Given the description of an element on the screen output the (x, y) to click on. 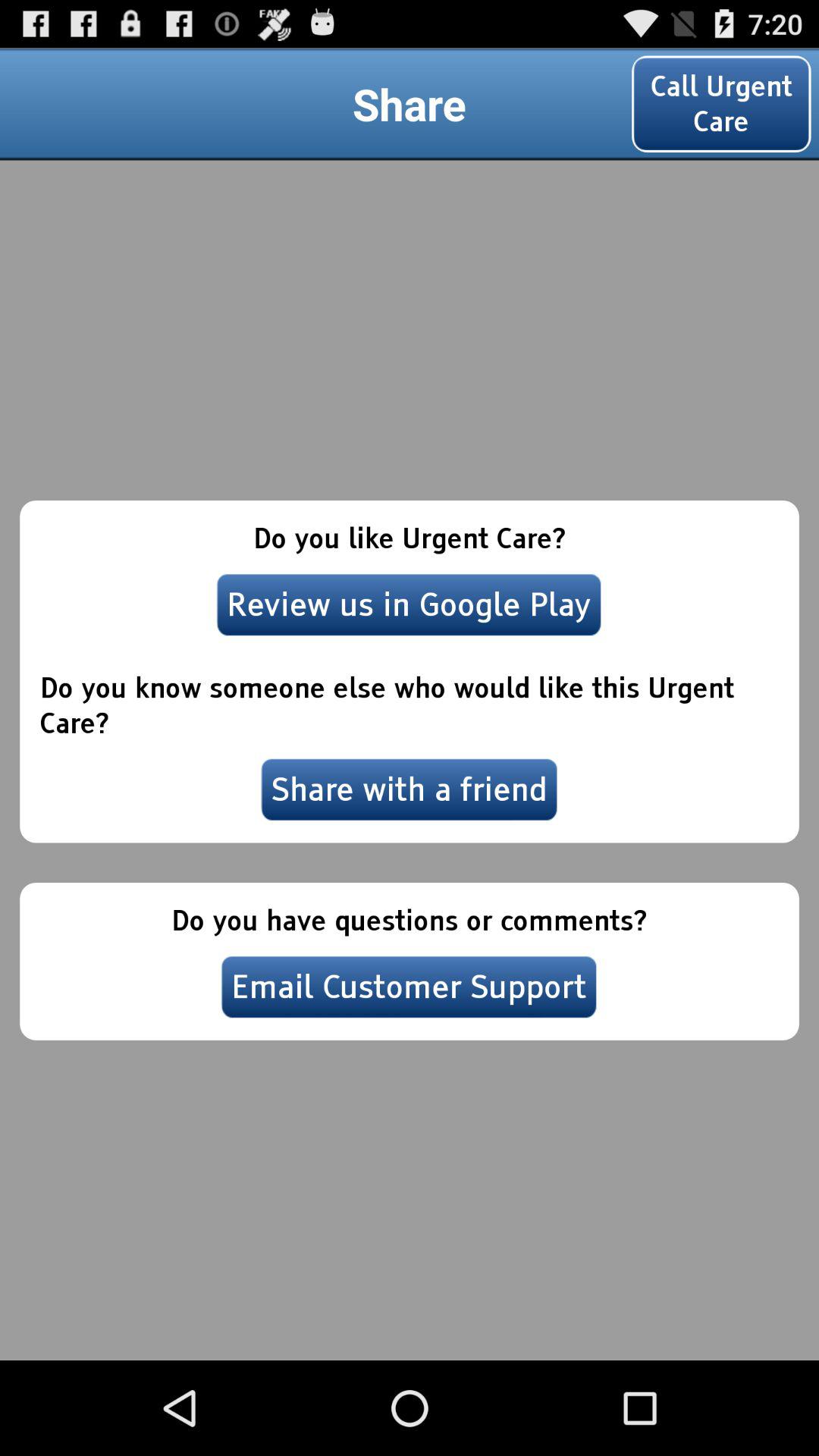
choose icon below the do you like item (408, 604)
